Given the description of an element on the screen output the (x, y) to click on. 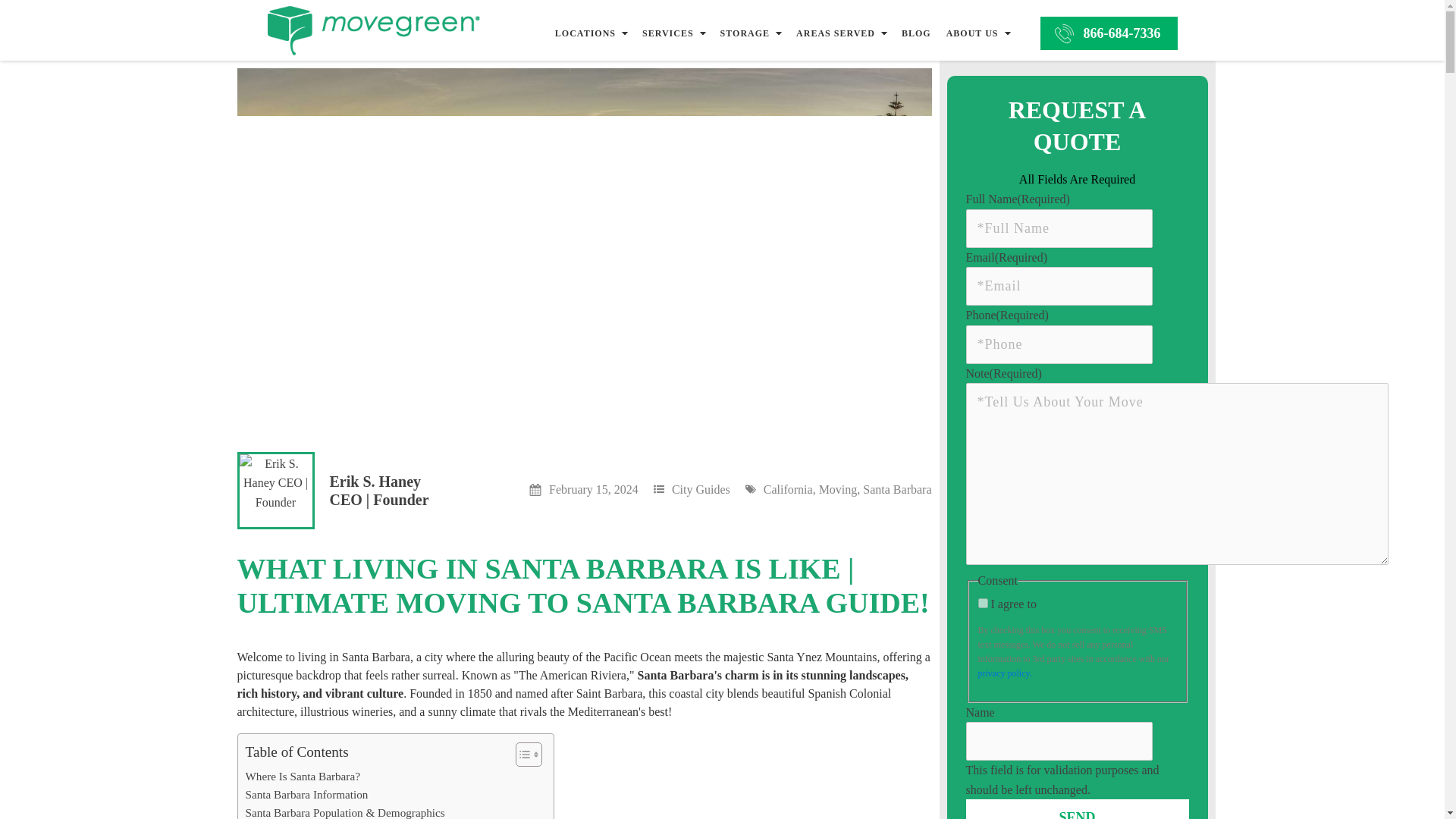
1 (983, 603)
ABOUT US (972, 32)
866-684-7336 (1109, 32)
Where Is Santa Barbara? (302, 776)
SERVICES (667, 32)
STORAGE (745, 32)
Santa Barbara Information (307, 794)
LOCATIONS (585, 32)
AREAS SERVED (835, 32)
SEND (1077, 809)
